Given the description of an element on the screen output the (x, y) to click on. 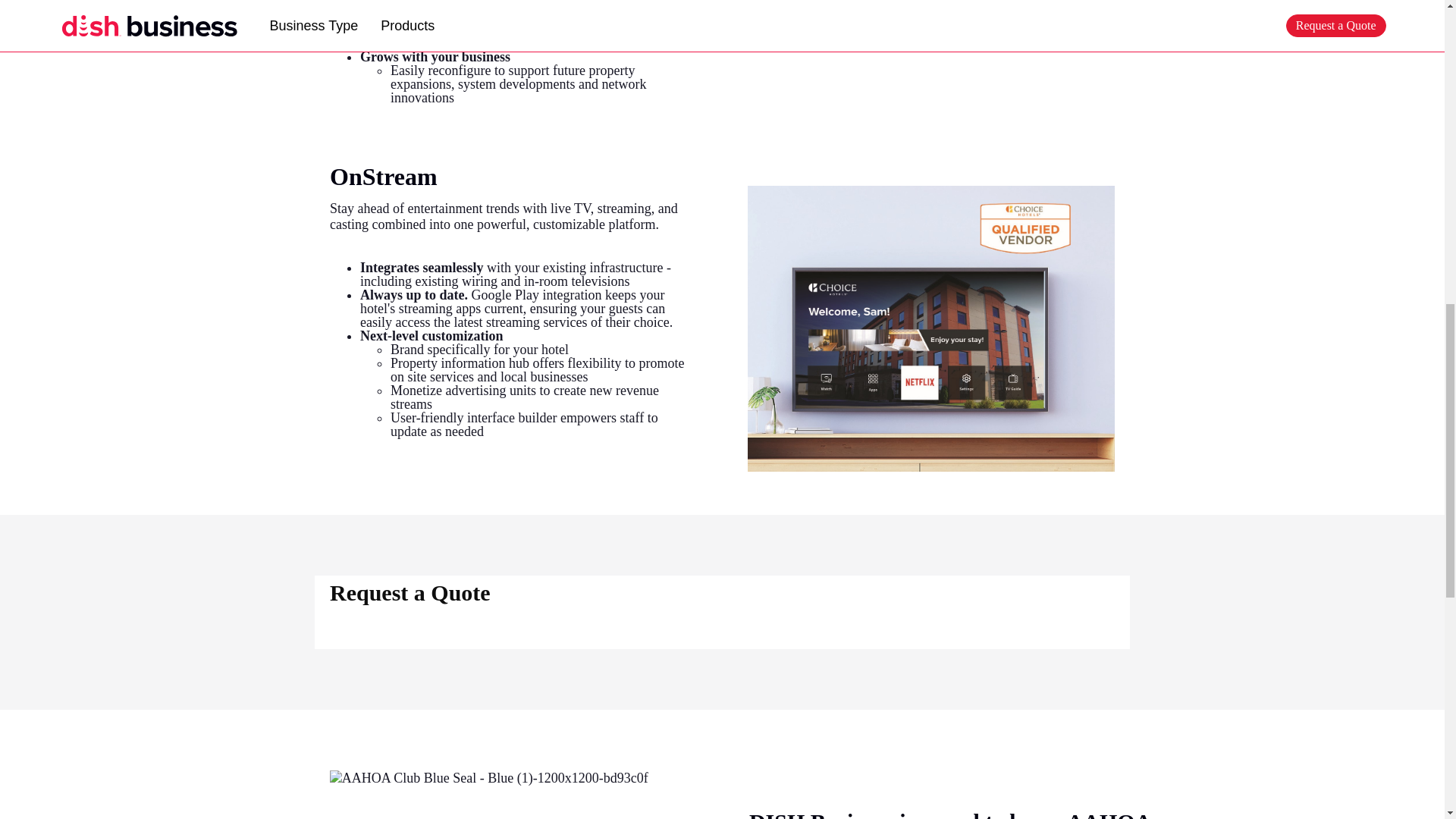
HubSpot Video (931, 43)
